Given the description of an element on the screen output the (x, y) to click on. 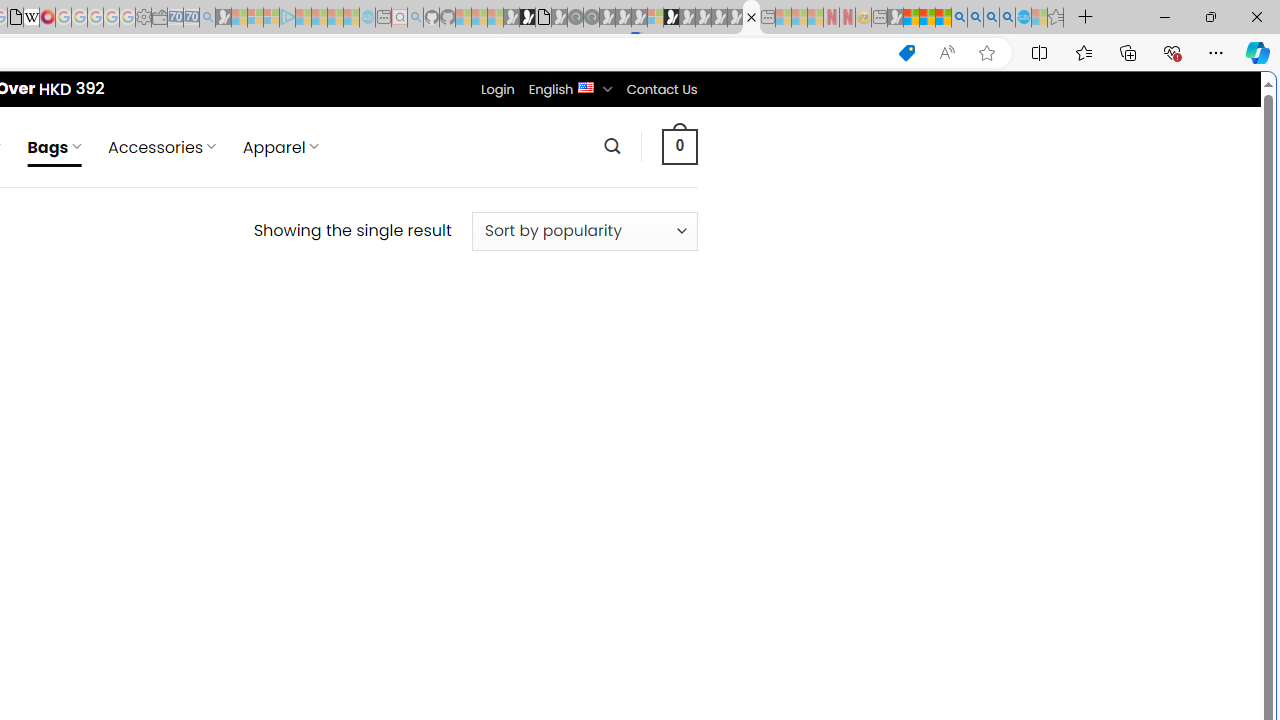
Future Focus Report 2024 - Sleeping (591, 17)
